Given the description of an element on the screen output the (x, y) to click on. 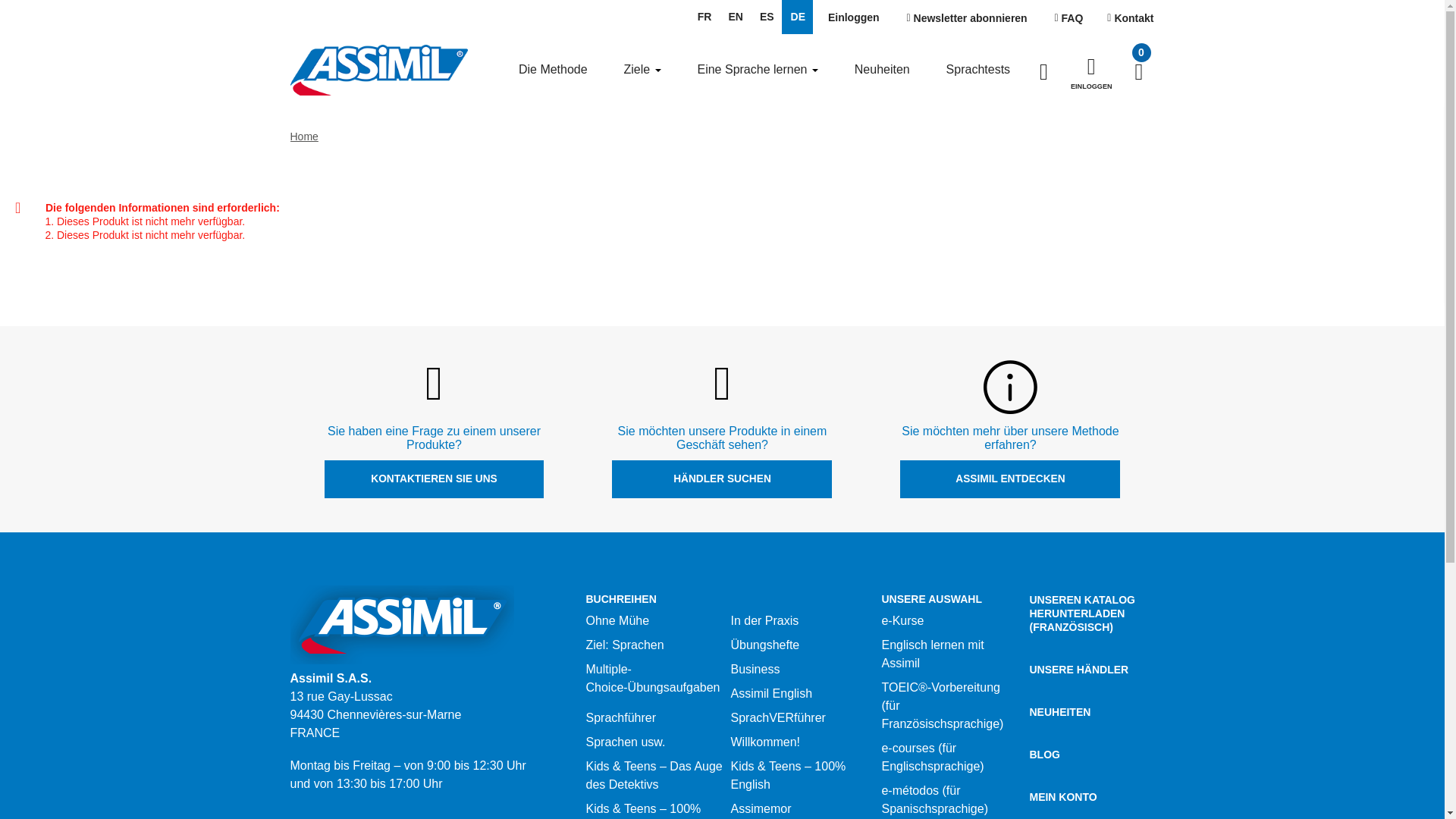
ES (766, 17)
ES (766, 17)
assimil.com (378, 69)
FR (703, 17)
Finden Sie die Antworten auf Ihre Fragen. (1069, 18)
Information (1010, 387)
Kontaktieren Sie uns (1130, 18)
Newsletter abonnieren (967, 18)
Einloggen (853, 18)
EN (734, 17)
